Given the description of an element on the screen output the (x, y) to click on. 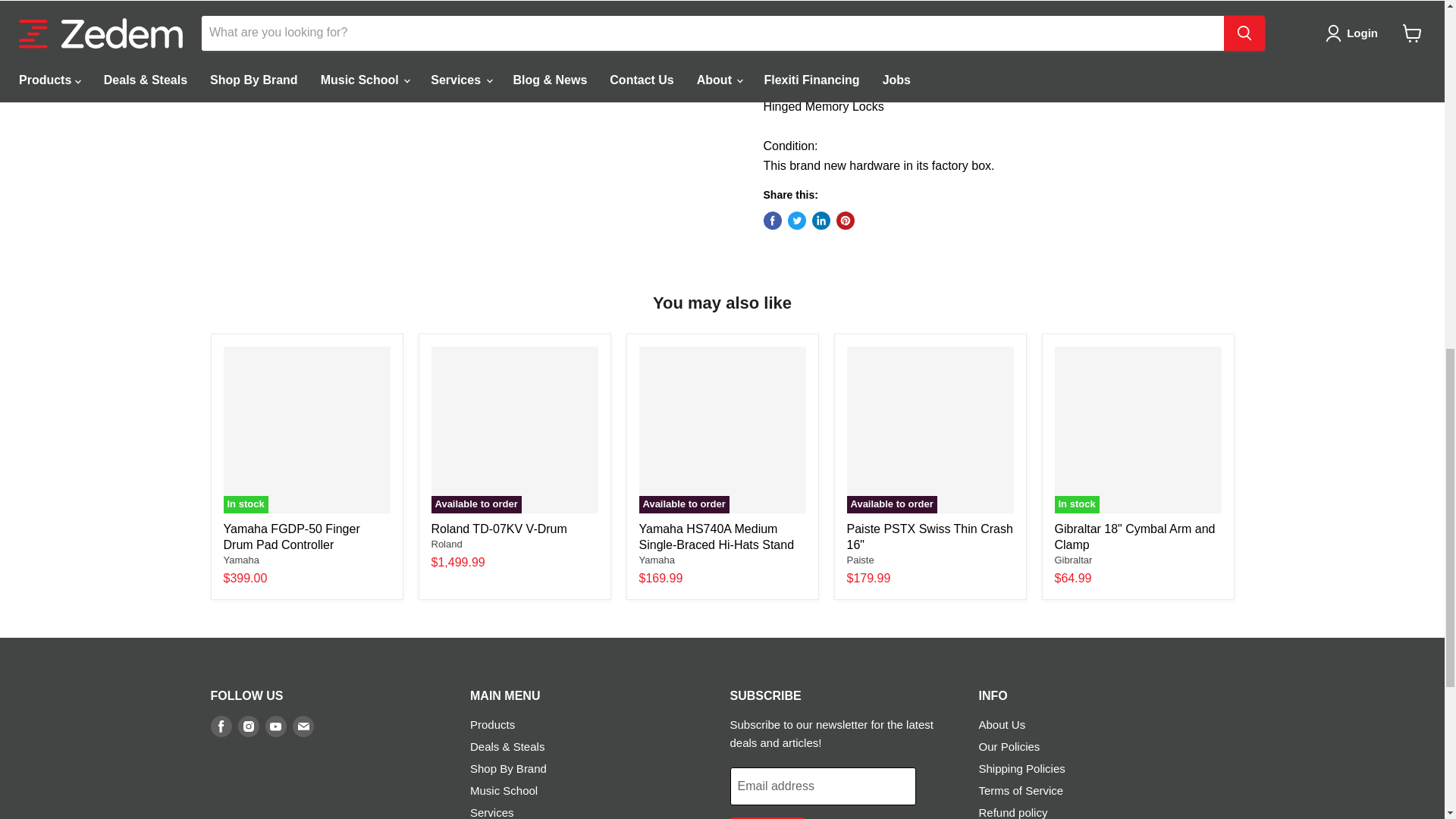
Youtube (275, 726)
Roland (445, 543)
Yamaha (656, 559)
Yamaha (240, 559)
Instagram (248, 726)
Paiste (859, 559)
Gibraltar (1073, 559)
Email (303, 726)
Facebook (221, 726)
